Given the description of an element on the screen output the (x, y) to click on. 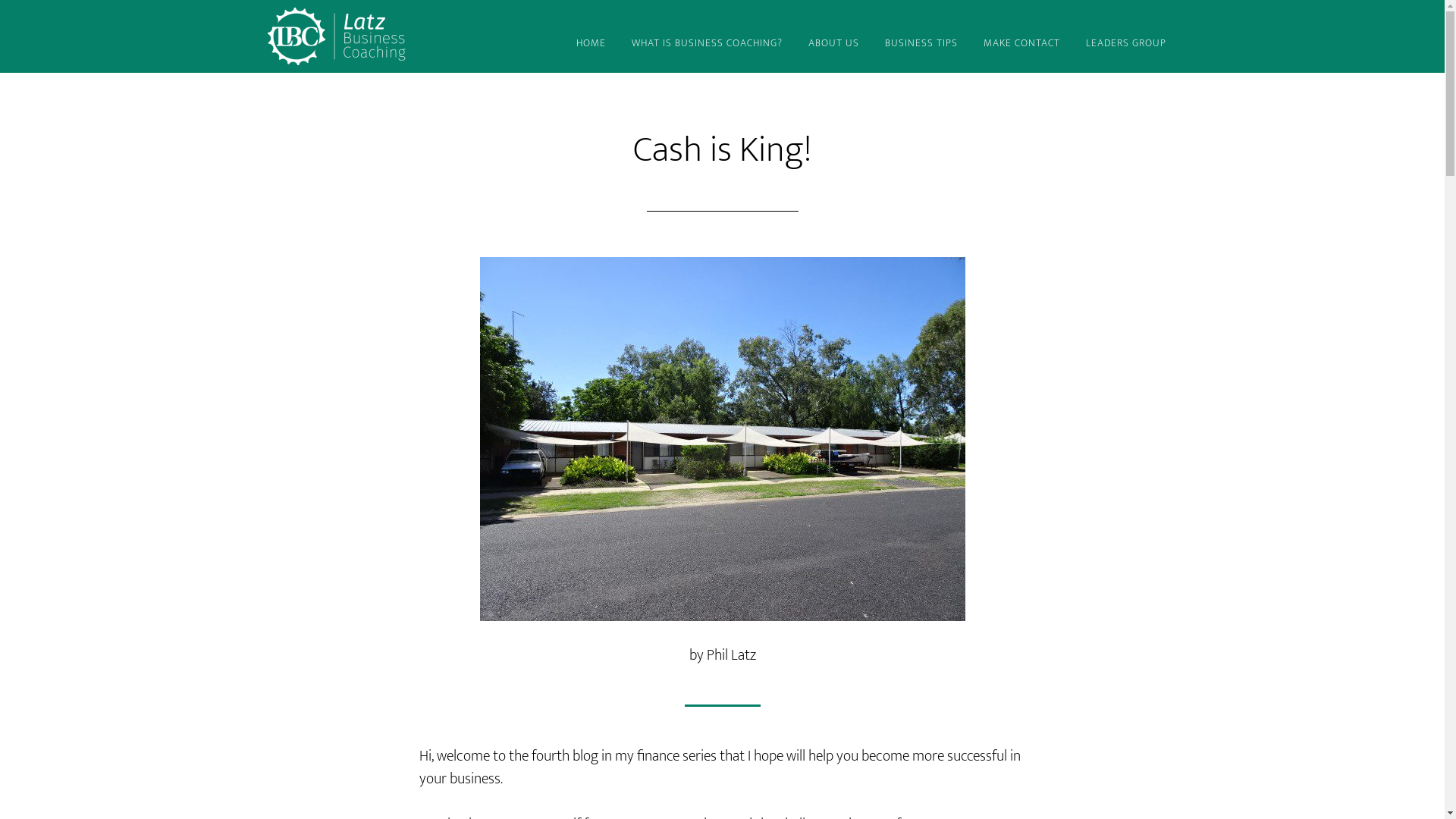
LATZ BUSINESS COACHING Element type: text (402, 36)
WHAT IS BUSINESS COACHING? Element type: text (706, 43)
HOME Element type: text (590, 43)
ABOUT US Element type: text (832, 43)
LEADERS GROUP Element type: text (1124, 43)
Skip to main content Element type: text (0, 0)
MAKE CONTACT Element type: text (1021, 43)
BUSINESS TIPS Element type: text (921, 43)
